Given the description of an element on the screen output the (x, y) to click on. 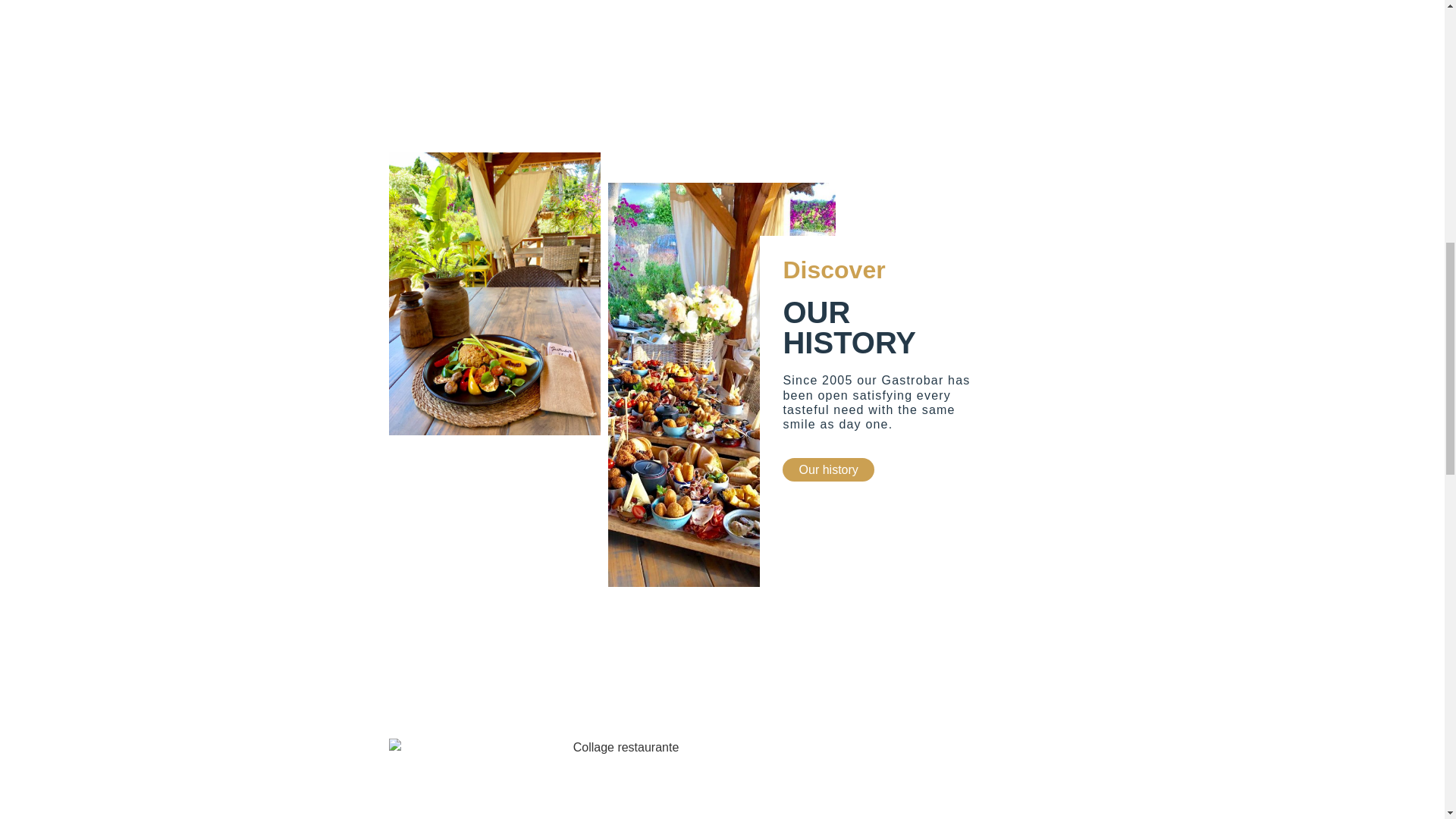
Our history (828, 469)
